Given the description of an element on the screen output the (x, y) to click on. 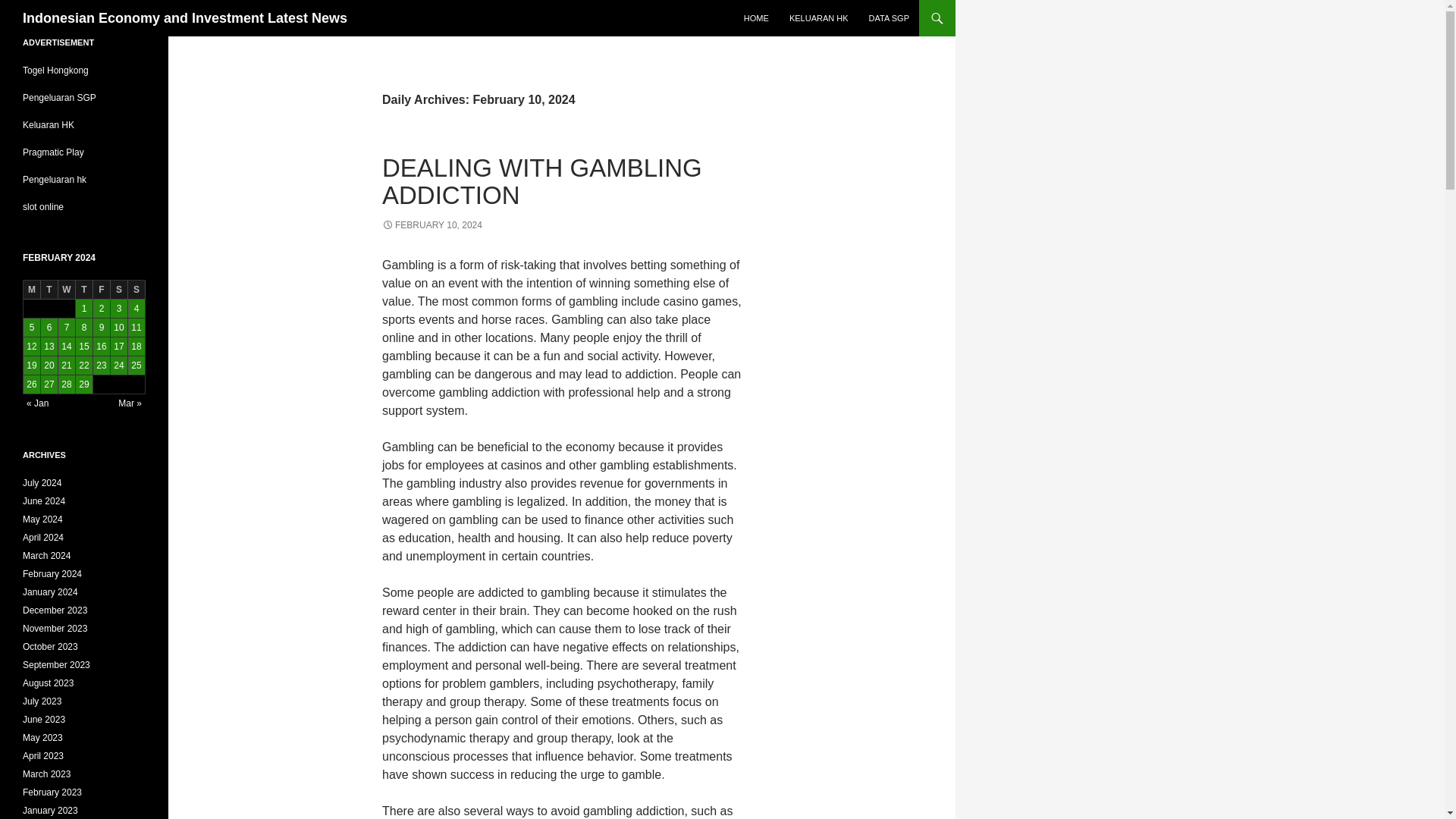
Friday (101, 289)
Pragmatic Play (53, 152)
4 (136, 308)
Togel Hongkong (55, 70)
17 (119, 346)
Thursday (84, 289)
Sunday (136, 289)
8 (84, 327)
13 (49, 346)
FEBRUARY 10, 2024 (431, 225)
DATA SGP (889, 18)
Pengeluaran hk (54, 179)
1 (84, 308)
5 (31, 327)
14 (66, 346)
